Given the description of an element on the screen output the (x, y) to click on. 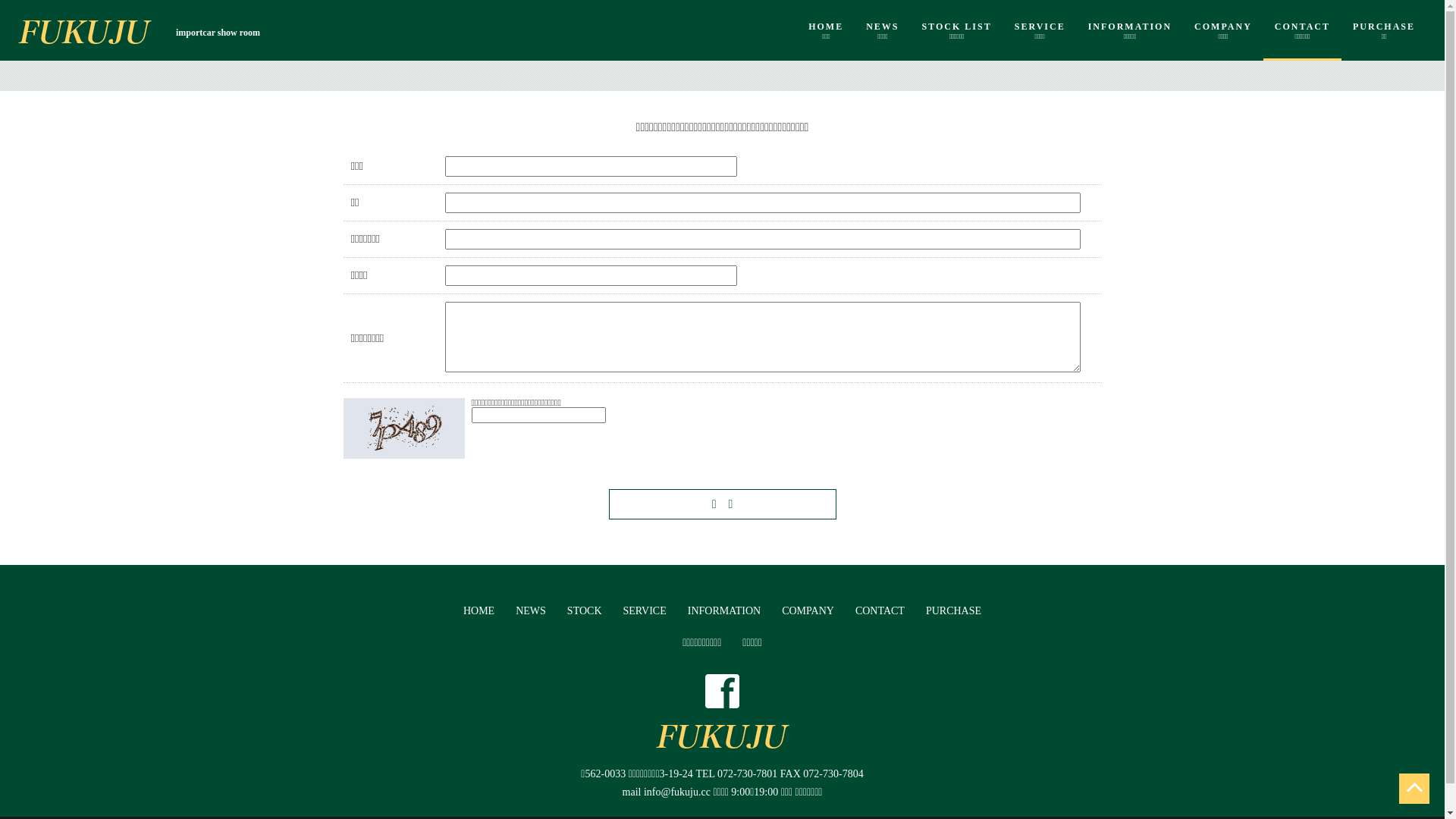
HOME Element type: text (478, 610)
STOCK Element type: text (584, 610)
CONTACT Element type: text (879, 610)
COMPANY Element type: text (807, 610)
NEWS Element type: text (530, 610)
INFORMATION Element type: text (723, 610)
PURCHASE Element type: text (953, 610)
FUKUJU Element type: text (84, 31)
SERVICE Element type: text (644, 610)
